Given the description of an element on the screen output the (x, y) to click on. 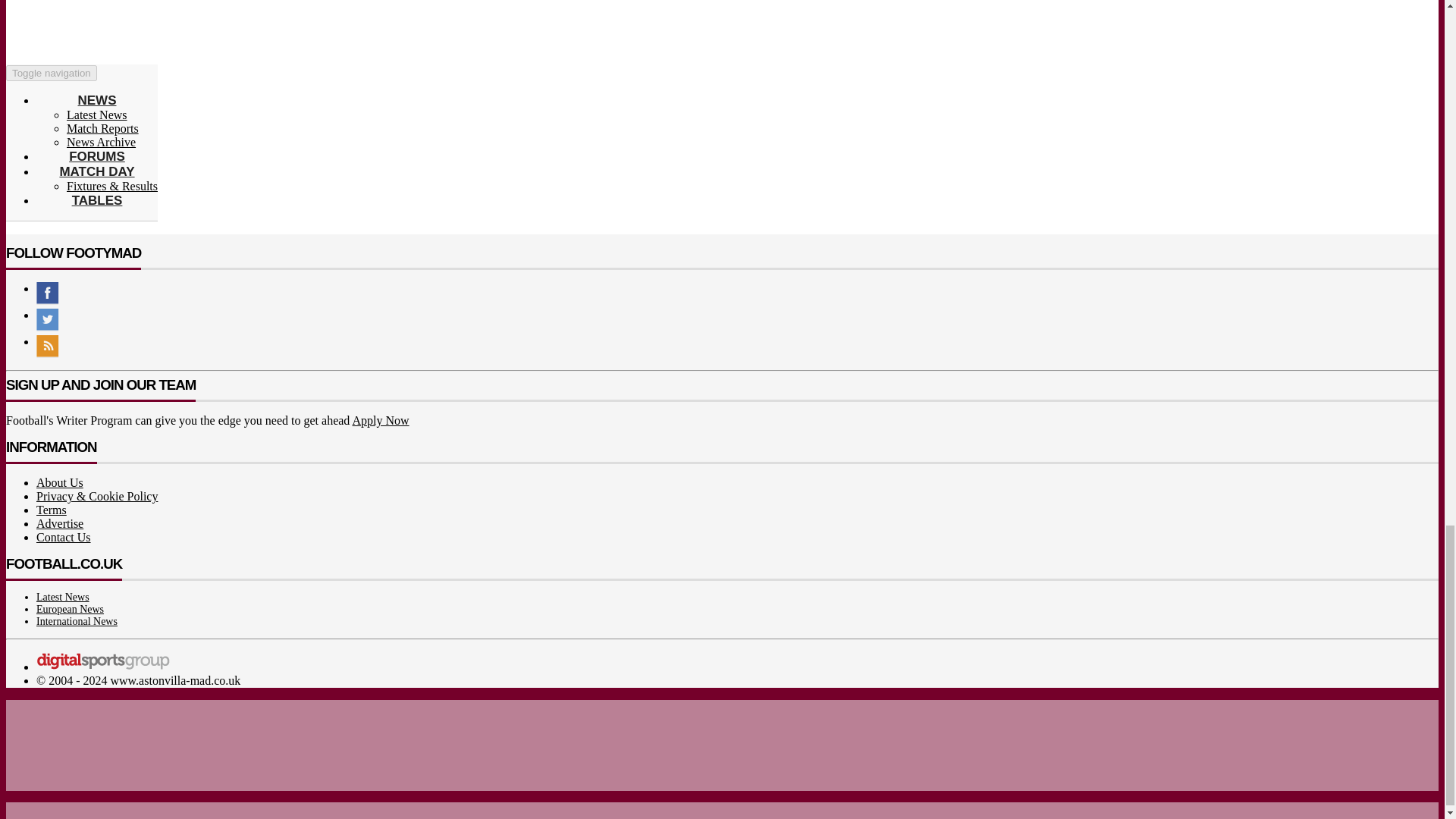
About us (59, 481)
footymad.net Terms and Conditions (51, 509)
Advertise on footymad.net (59, 522)
Contact us (63, 536)
